Given the description of an element on the screen output the (x, y) to click on. 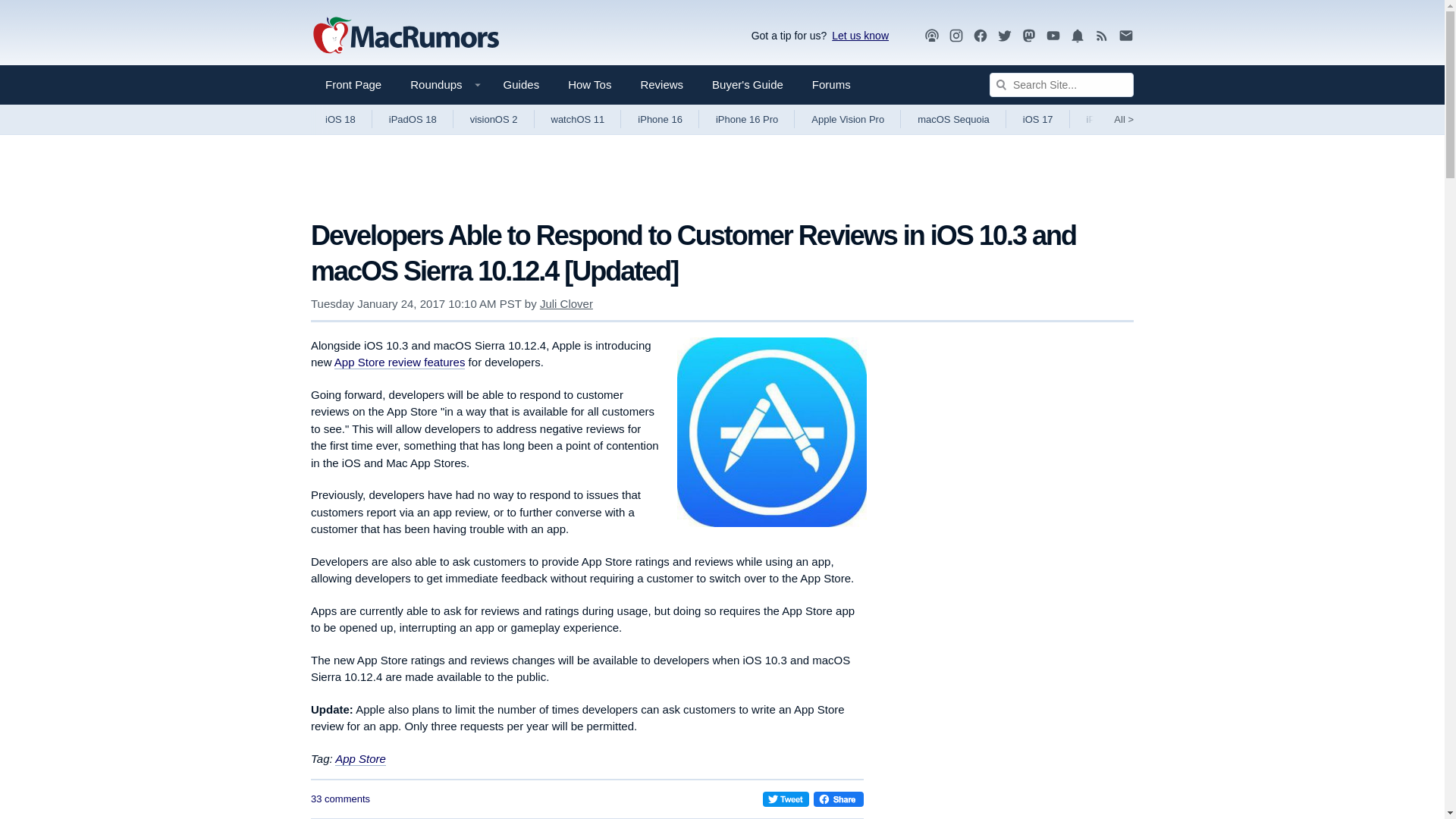
MacRumors on Mastodon (1029, 35)
Notifications (1077, 35)
RSS (1101, 35)
Forums (830, 84)
Roundups (441, 84)
MacRumors YouTube Channel (1053, 35)
How Tos (589, 84)
Roundups (441, 84)
Newsletter (1126, 35)
Twitter (1004, 35)
MacRumors on Instagram (956, 35)
Apple, Mac, iPhone, iPad News and Rumors (405, 36)
MacRumors RSS Feed (1101, 35)
MacRumors Push Notifications (1077, 35)
Newsletter (1126, 35)
